Given the description of an element on the screen output the (x, y) to click on. 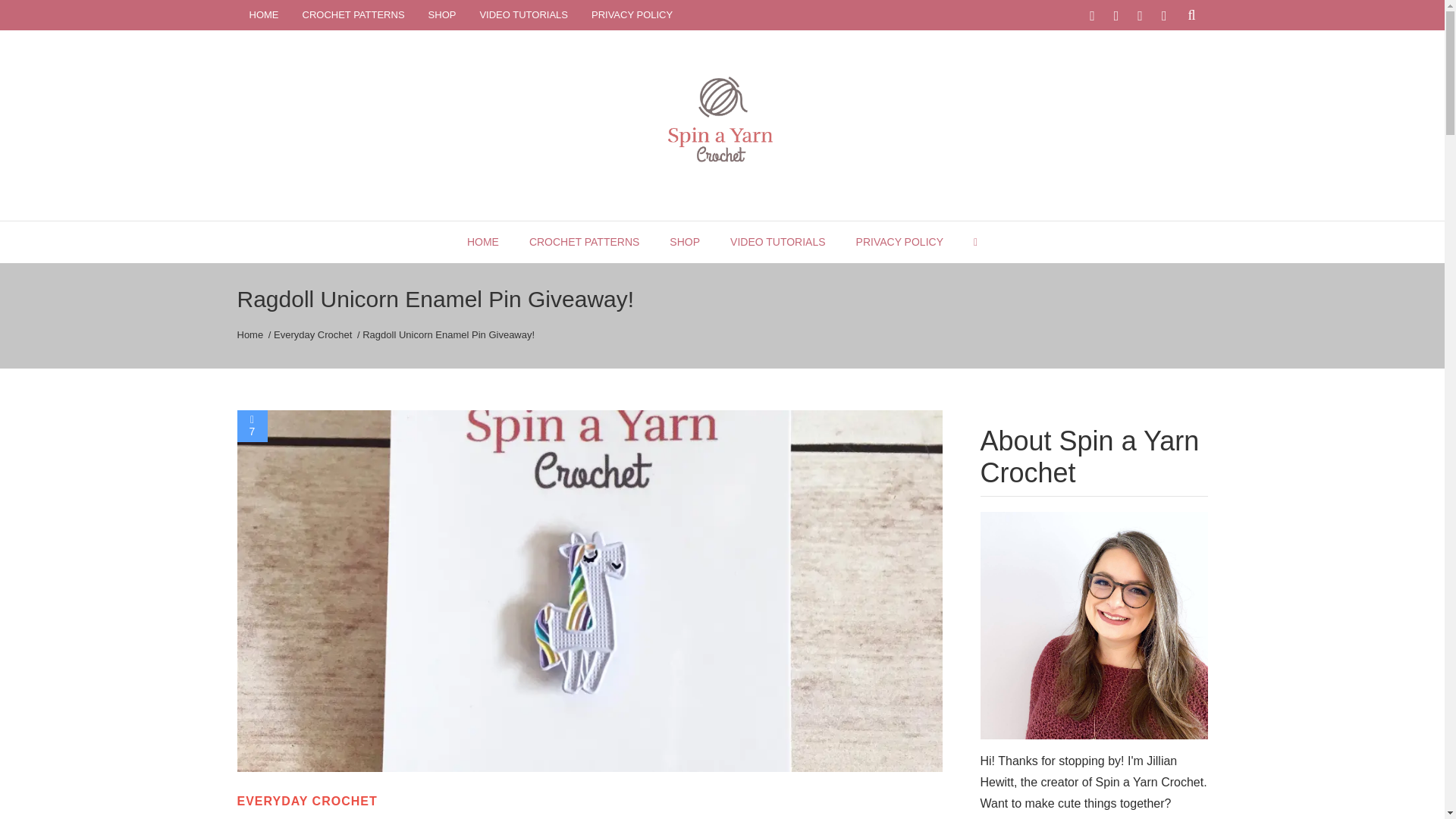
CROCHET PATTERNS (353, 14)
HOME (263, 14)
SHOP (441, 14)
VIDEO TUTORIALS (777, 241)
Everyday Crochet (312, 334)
Like this (250, 426)
VIDEO TUTORIALS (523, 14)
Search (1163, 60)
HOME (483, 241)
CROCHET PATTERNS (583, 241)
